Given the description of an element on the screen output the (x, y) to click on. 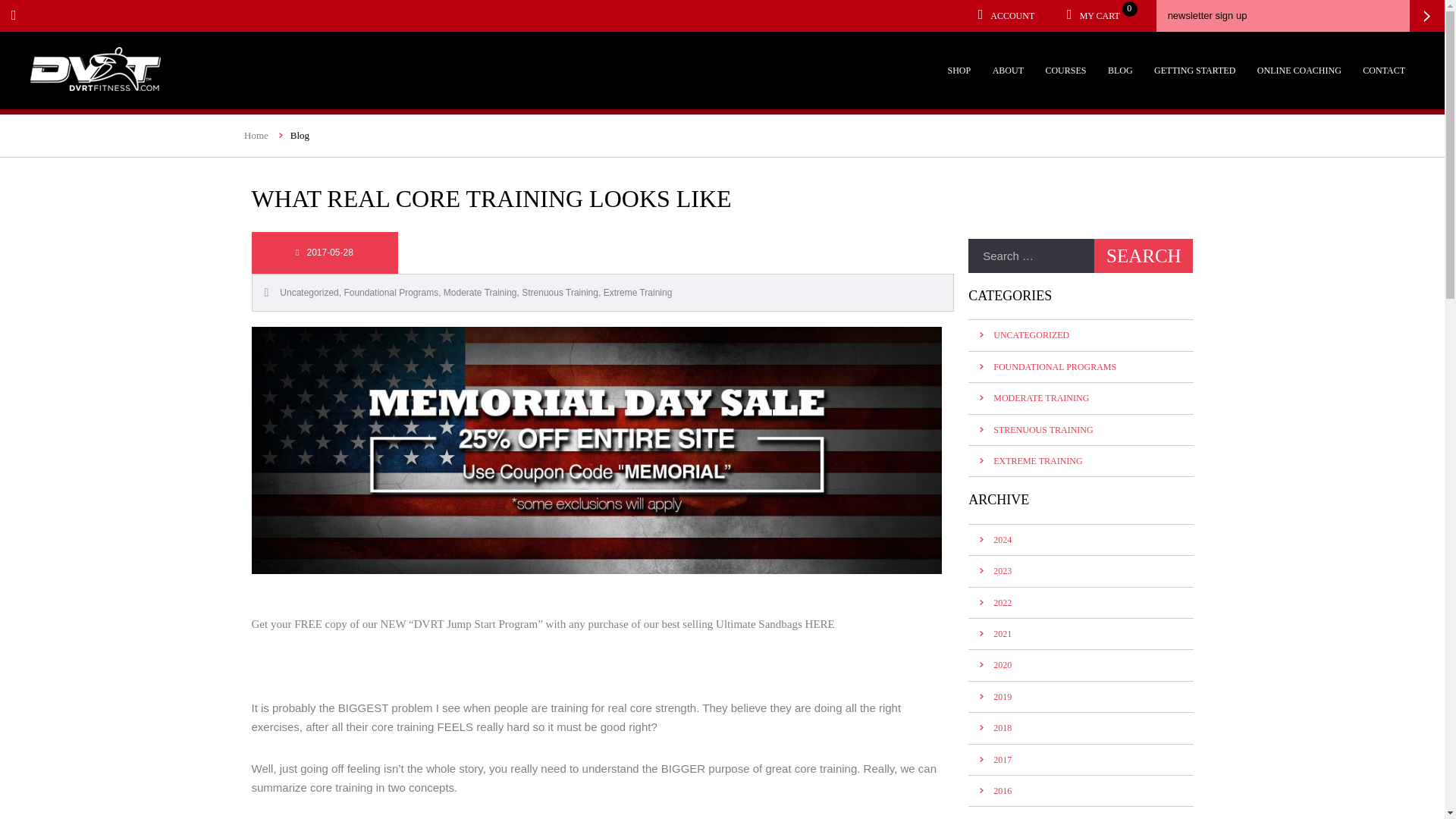
ACCOUNT (1006, 15)
CONTACT (1383, 70)
Moderate Training (480, 292)
2023 (1001, 570)
FOUNDATIONAL PROGRAMS (1054, 366)
GETTING STARTED (1194, 70)
EXTREME TRAINING (1036, 460)
STRENUOUS TRAINING (1042, 429)
ONLINE COACHING (1299, 70)
ABOUT (1008, 70)
Strenuous Training (559, 292)
UNCATEGORIZED (1030, 335)
Uncategorized (1093, 15)
SHOP (308, 292)
